Given the description of an element on the screen output the (x, y) to click on. 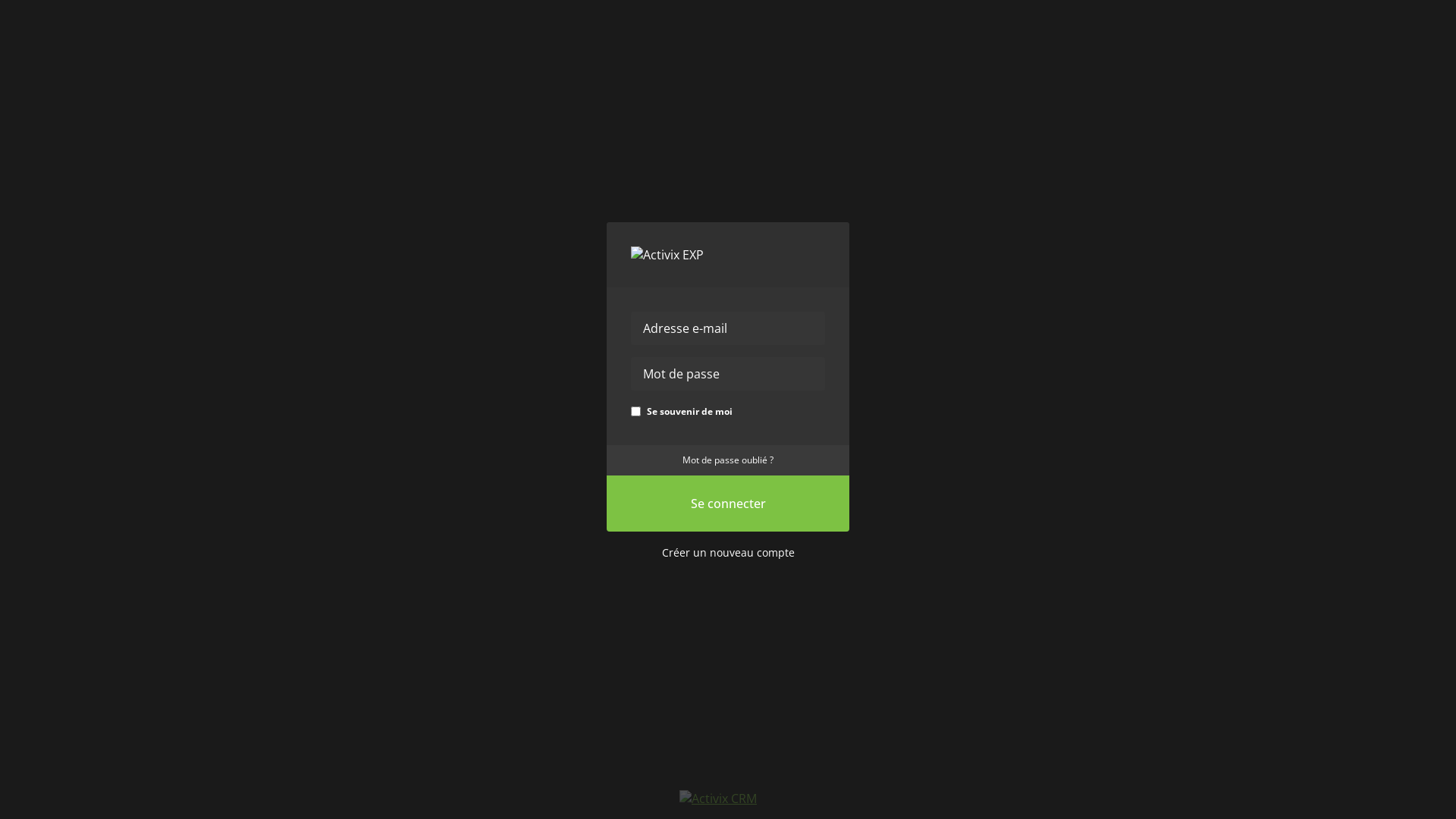
Se connecter Element type: text (727, 502)
